Given the description of an element on the screen output the (x, y) to click on. 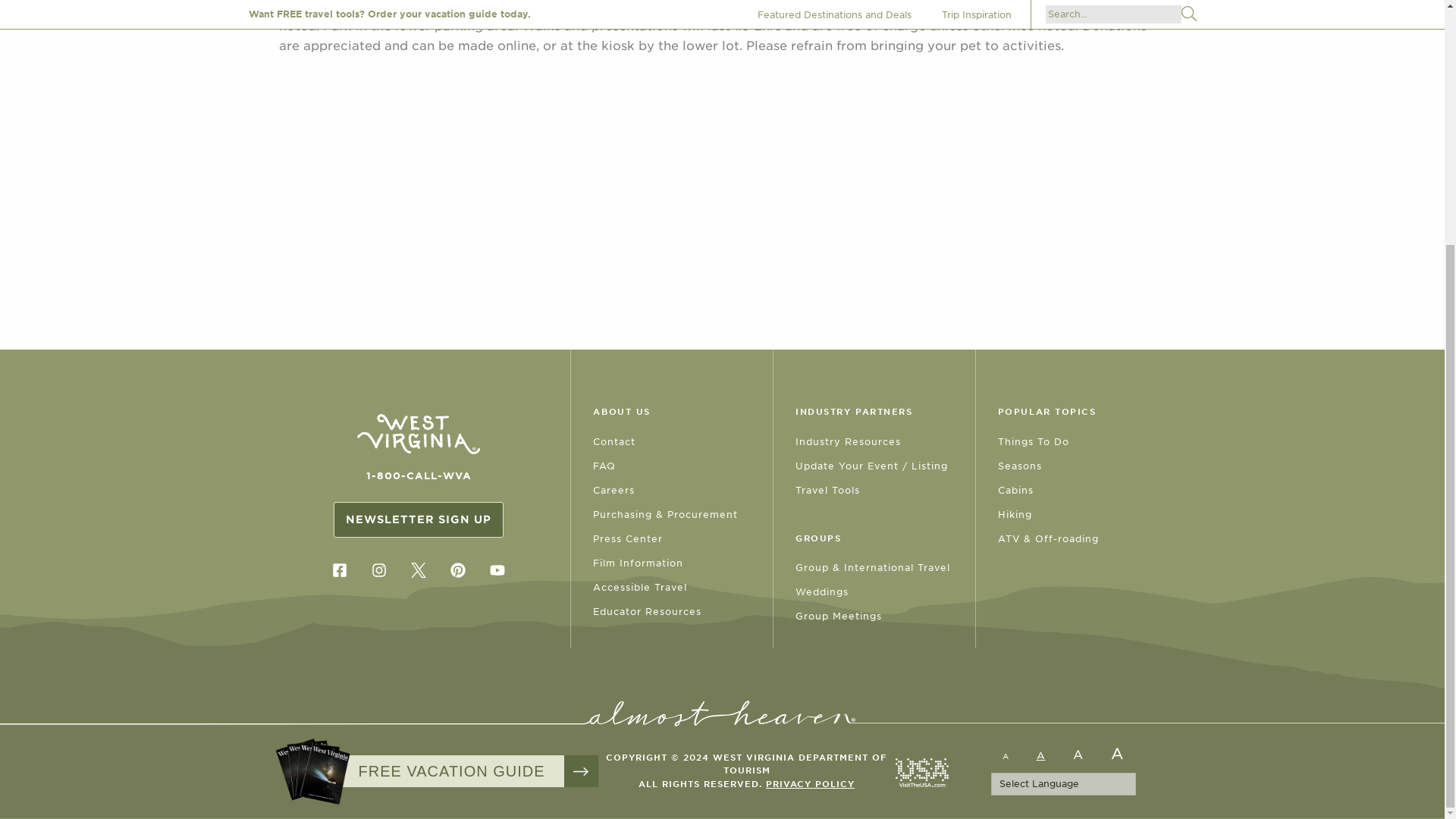
Find us on YouTube (497, 569)
Find us on Pinterest (458, 569)
Find us on Twitter (418, 569)
Find us on Facebook (339, 569)
Brand USA logo (921, 772)
Find us on Instagram (378, 569)
